Given the description of an element on the screen output the (x, y) to click on. 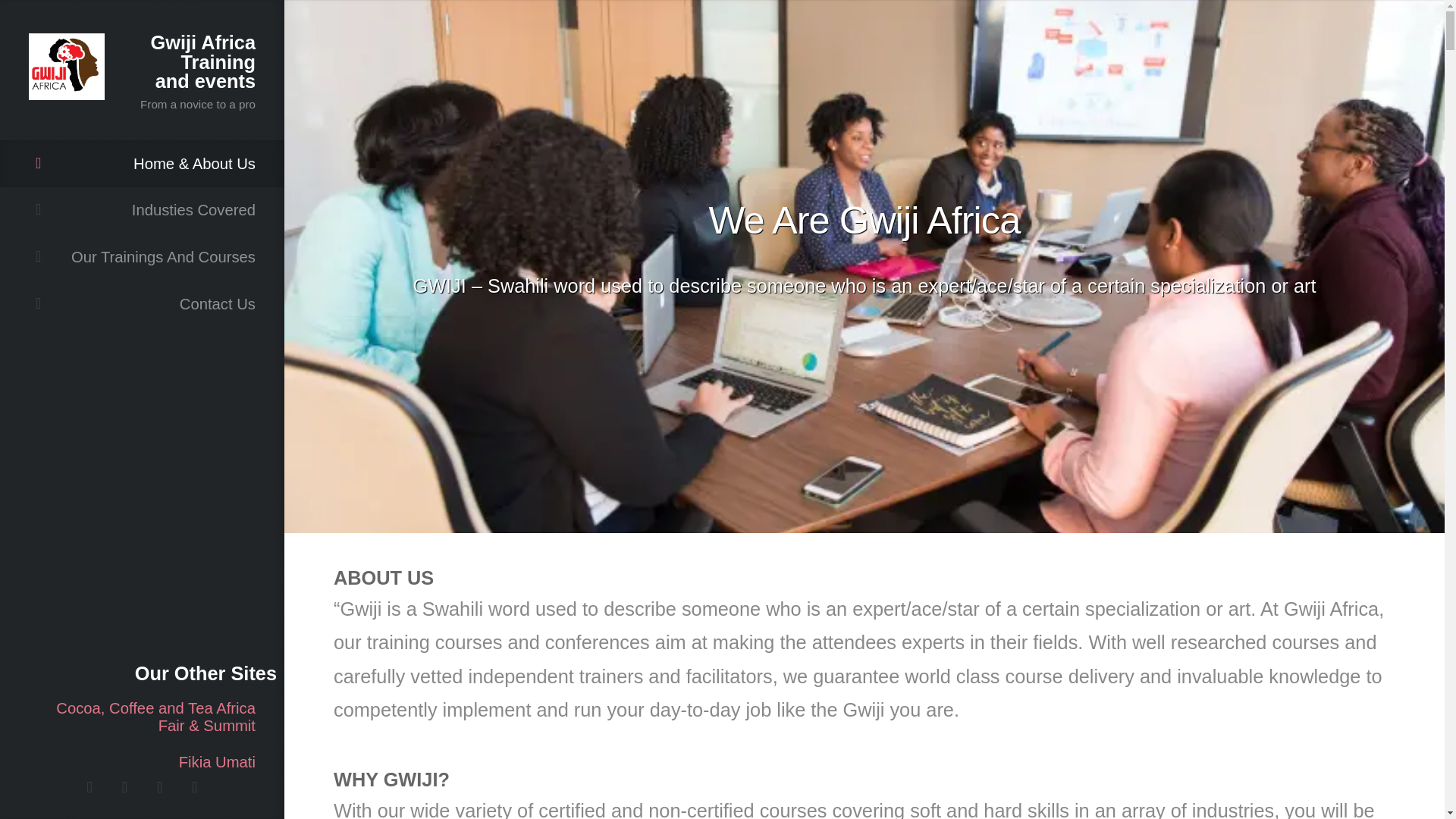
Industies Covered (141, 210)
Industies Covered (141, 210)
Fikia Umati (141, 762)
Contact Us (141, 303)
Fikia Umati (141, 762)
Contact Us (141, 303)
Our Trainings And Courses (141, 256)
Our Trainings And Courses (141, 256)
